Given the description of an element on the screen output the (x, y) to click on. 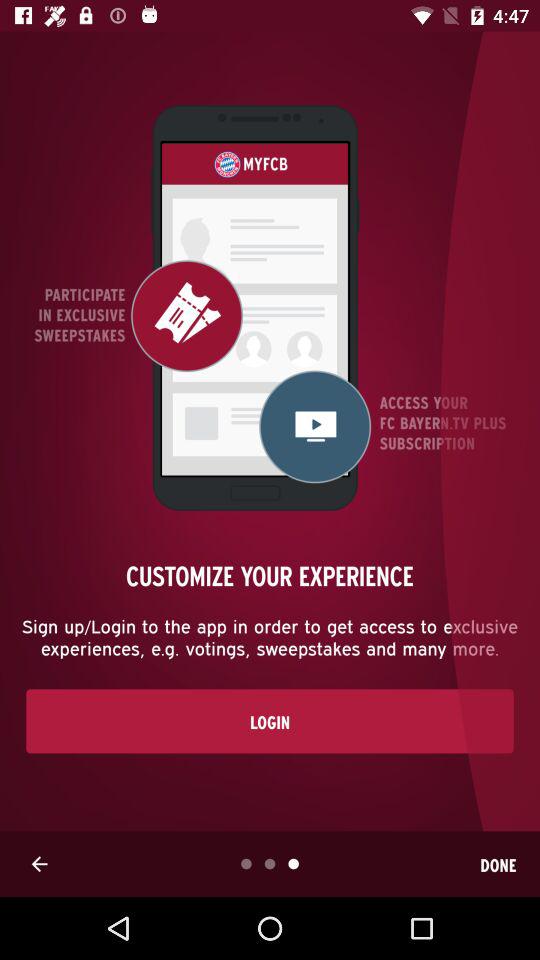
select the icon next to done (39, 864)
